Given the description of an element on the screen output the (x, y) to click on. 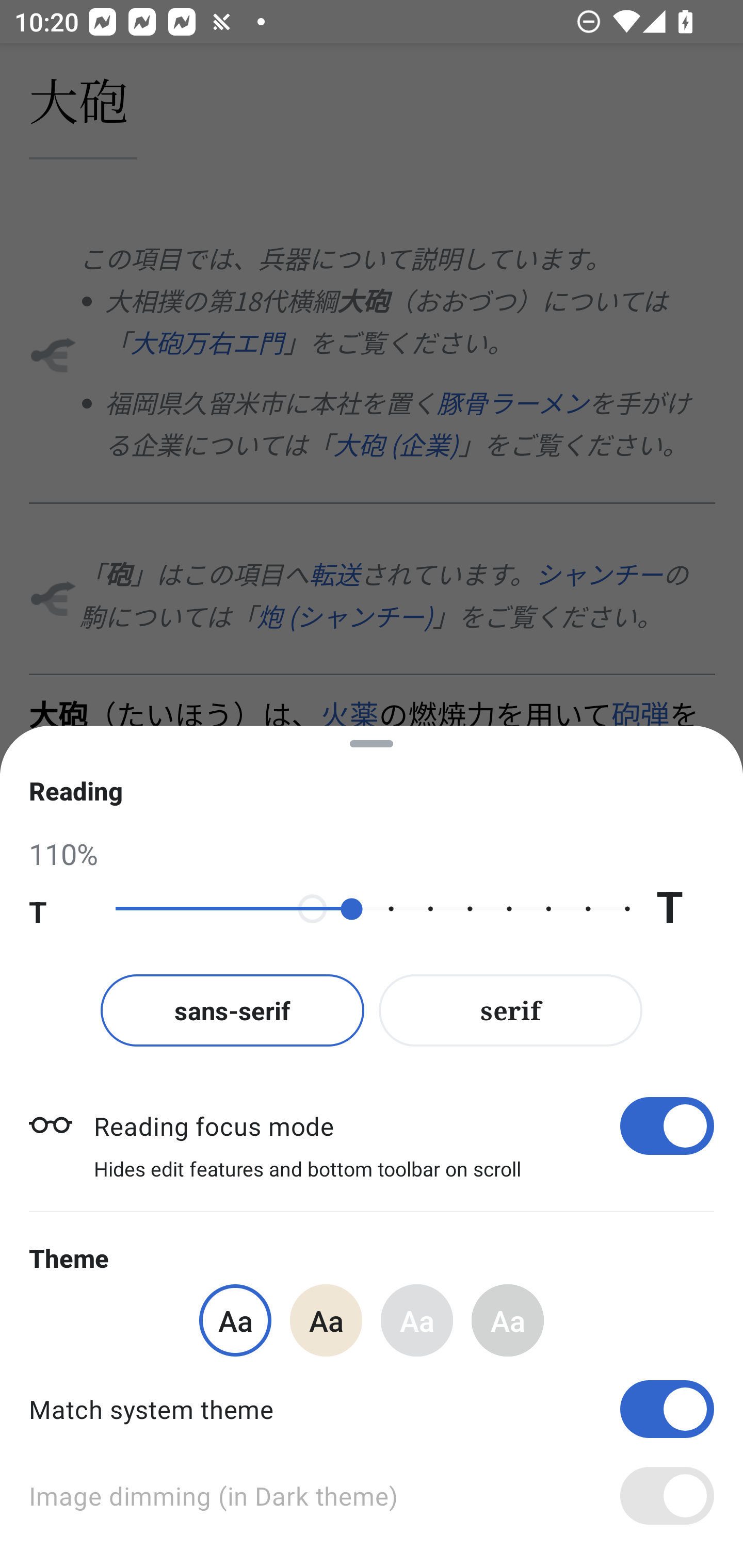
T Decrease text size (57, 909)
T Increase text size (685, 909)
sans-serif (232, 1010)
serif (510, 1010)
Reading focus mode (403, 1125)
Aa (325, 1320)
Aa (416, 1320)
Aa (507, 1320)
Match system theme (371, 1408)
Image dimming (in Dark theme) (371, 1495)
